Given the description of an element on the screen output the (x, y) to click on. 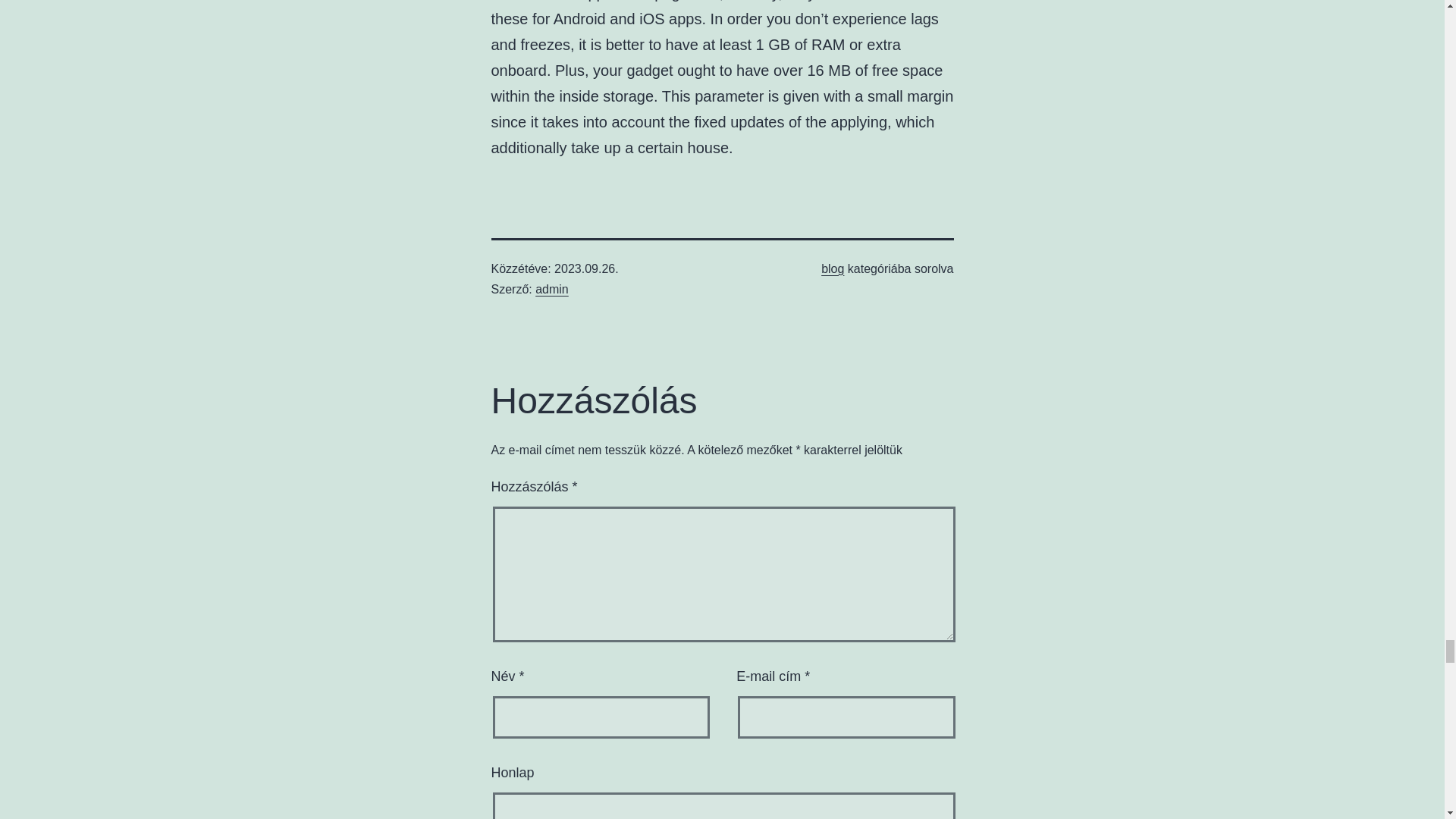
admin (552, 288)
blog (832, 268)
